Given the description of an element on the screen output the (x, y) to click on. 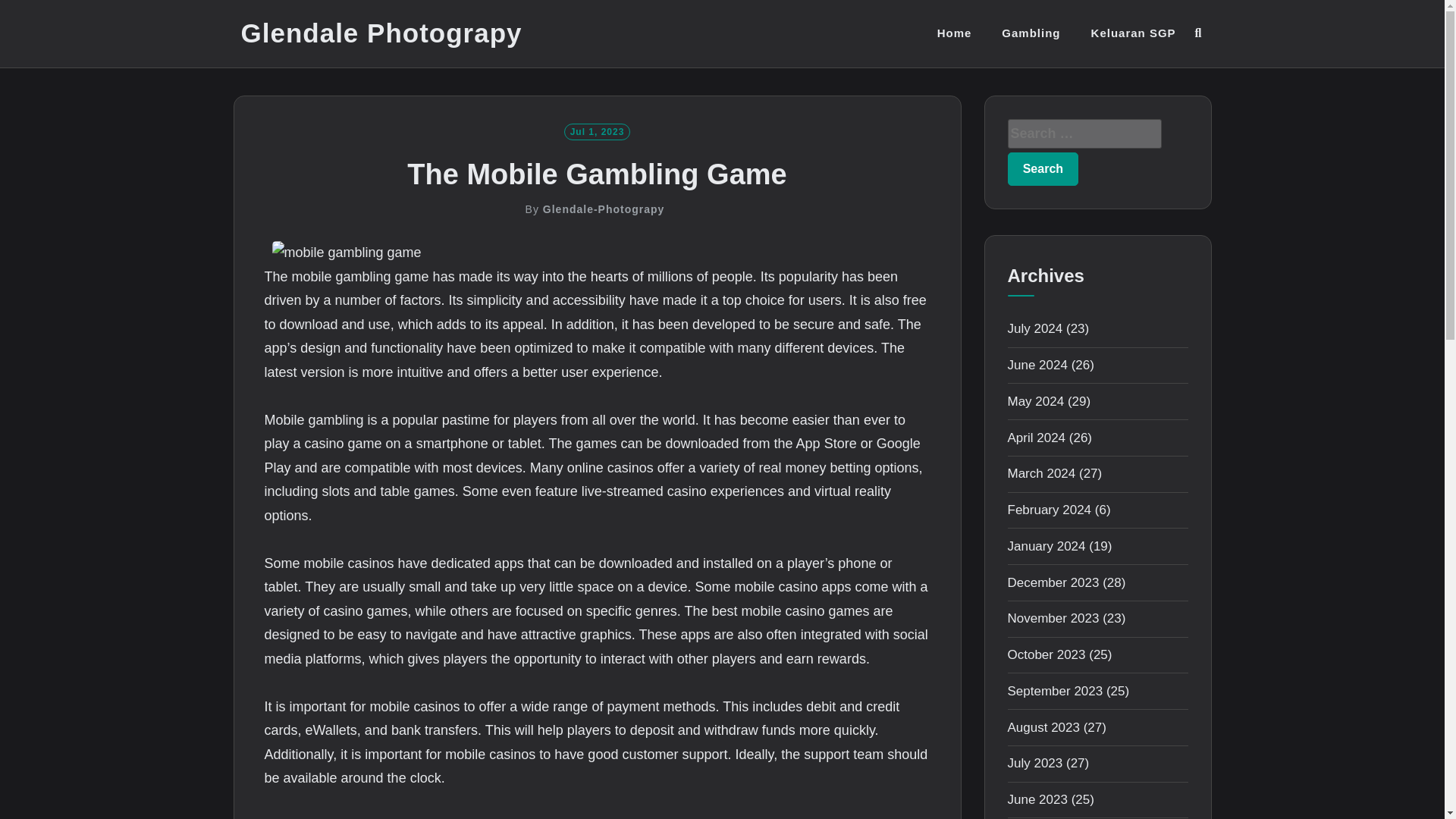
Home (954, 33)
September 2023 (1054, 690)
Search (730, 427)
Search (1042, 168)
Gambling (1030, 33)
March 2024 (1041, 473)
Jul 1, 2023 (597, 130)
Keluaran SGP (1133, 33)
July 2024 (1034, 328)
Search (1042, 168)
August 2023 (1042, 727)
February 2024 (1048, 509)
June 2024 (1037, 364)
January 2024 (1045, 545)
Search (1042, 168)
